Given the description of an element on the screen output the (x, y) to click on. 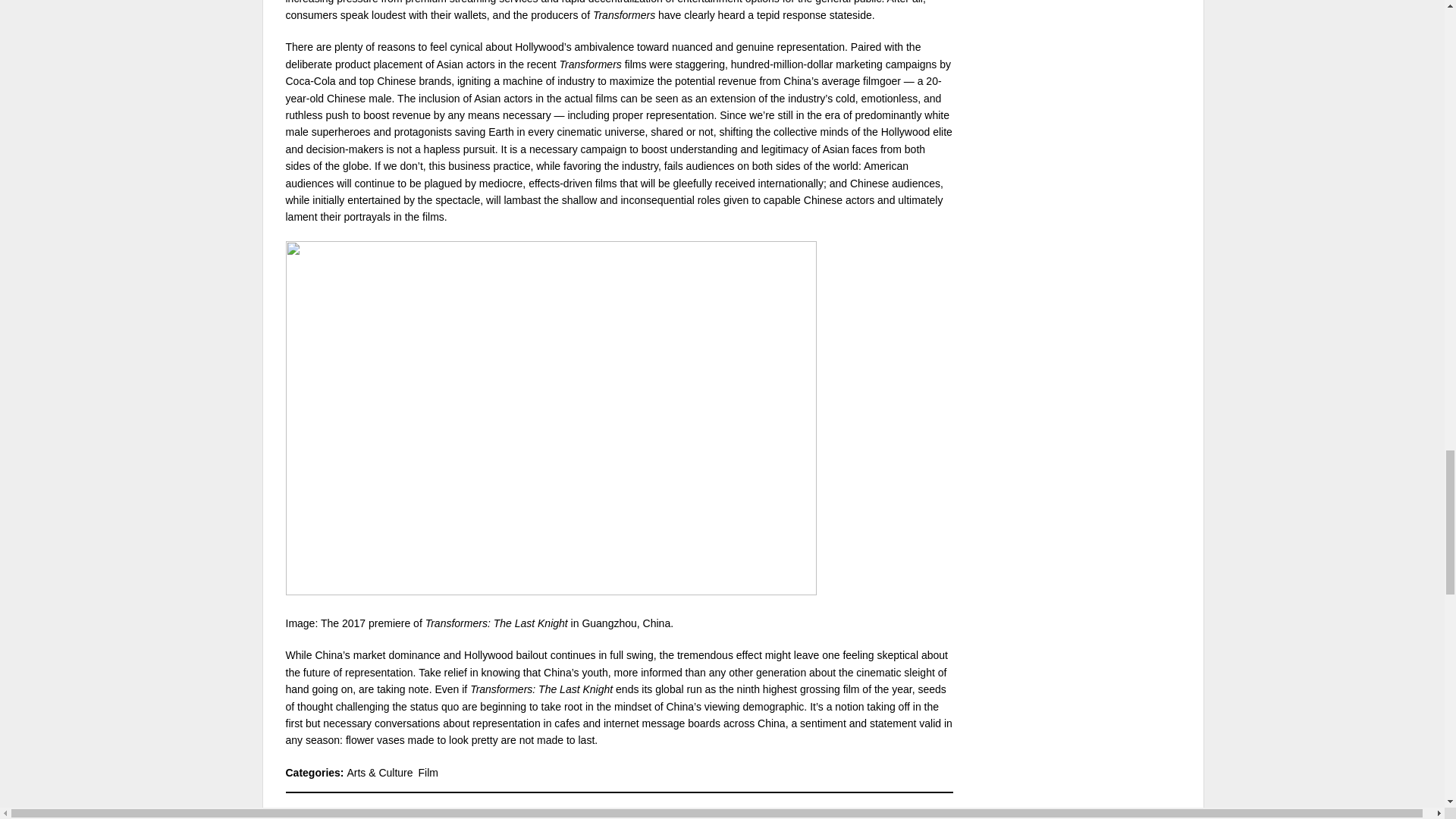
Film (428, 772)
CHRISTIAN TING (370, 812)
